Given the description of an element on the screen output the (x, y) to click on. 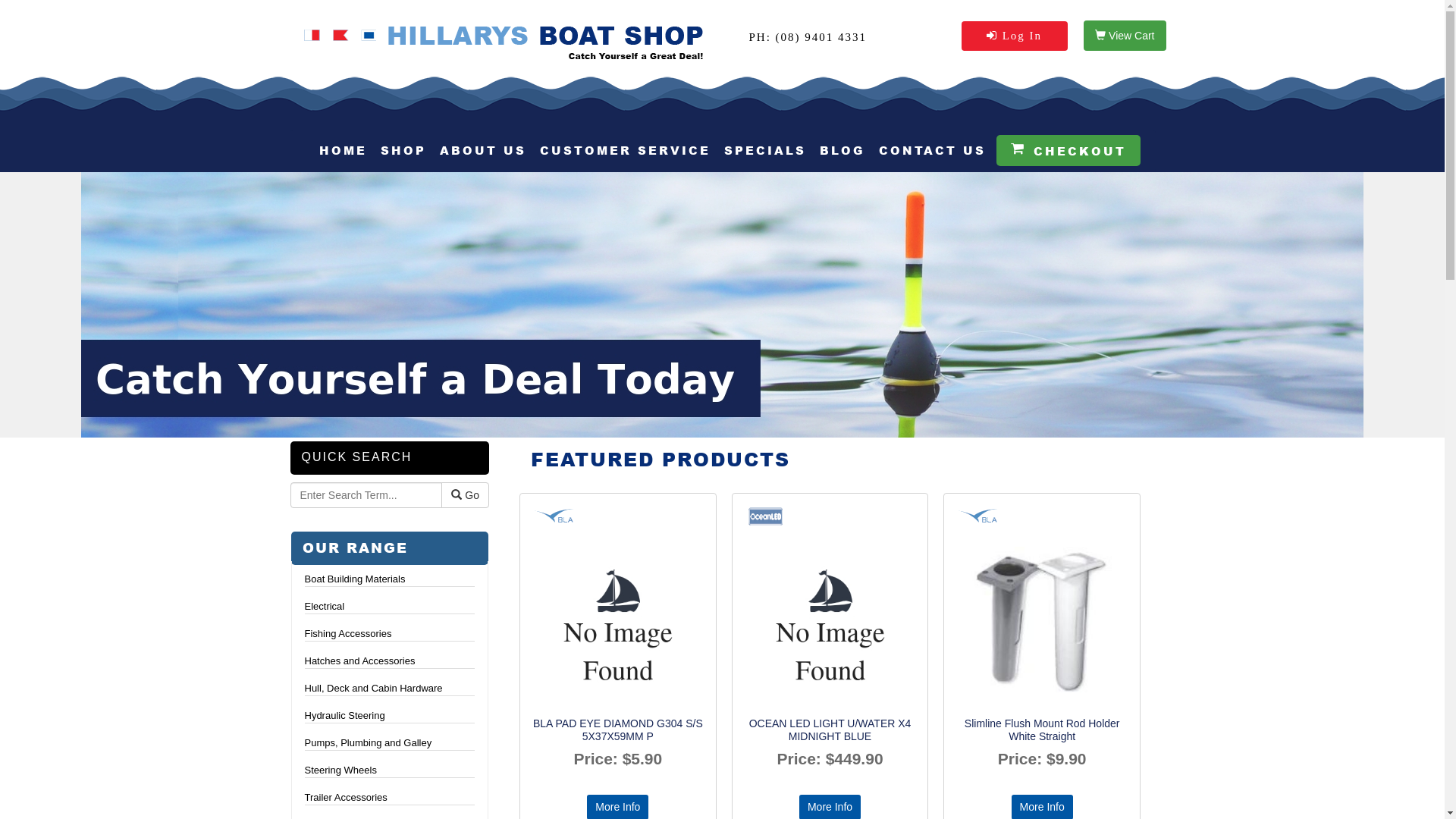
Hillarys Boat and Tackle Element type: hover (506, 41)
CHECKOUT Element type: text (1067, 150)
View Cart Element type: text (1124, 35)
Slimline Flush Mount Rod Holder White Straight Element type: text (1042, 730)
Log In Element type: text (1014, 35)
BLA PAD EYE DIAMOND G304 S/S 5X37X59MM P Element type: text (617, 730)
Shop OCEAN LED LIGHT U/WATER X4 MIDNIGHT BLUE Element type: hover (830, 610)
CONTACT US Element type: text (931, 150)
Hydraulic Steering Element type: text (389, 715)
Trailer Accessories Element type: text (389, 797)
Search Element type: hover (456, 494)
SPECIALS Element type: text (764, 150)
OCEAN LED LIGHT U/WATER X4 MIDNIGHT BLUE Element type: text (830, 730)
Fishing Accessories Element type: text (389, 633)
Search Products Element type: hover (365, 495)
Hull, Deck and Cabin Hardware Element type: text (389, 688)
Boat Building Materials Element type: text (389, 578)
Steering Wheels Element type: text (389, 770)
Pumps, Plumbing and Galley Element type: text (389, 742)
Shop Slimline Flush Mount Rod Holder - White Straight Element type: hover (1041, 610)
CUSTOMER SERVICE Element type: text (624, 150)
Hatches and Accessories Element type: text (389, 660)
BLOG Element type: text (841, 150)
SHOP Element type: text (403, 150)
HOME Element type: text (342, 150)
Shop BLA PAD EYE DIAMOND G304 S/S 5X37X59MM - P Element type: hover (617, 610)
PH: (08) 9401 4331 Element type: text (808, 37)
Go Element type: text (465, 495)
ABOUT US Element type: text (482, 150)
Hillarys Boat and Tackle Element type: hover (505, 41)
Electrical Element type: text (389, 606)
